Given the description of an element on the screen output the (x, y) to click on. 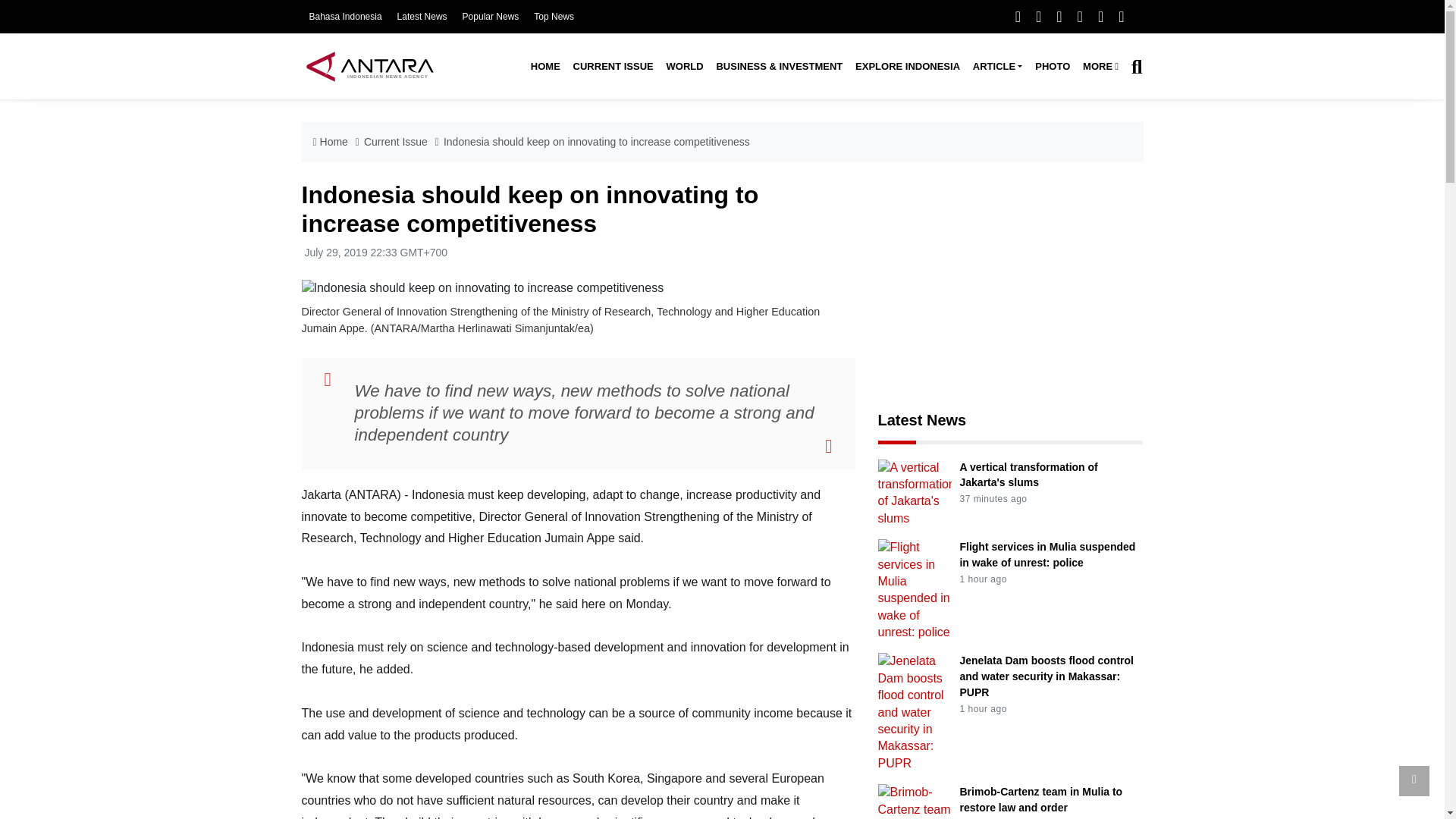
Top News (553, 16)
ANTARA News (369, 66)
Article (996, 66)
CURRENT ISSUE (612, 66)
EXPLORE INDONESIA (907, 66)
Latest News (421, 16)
Top News (553, 16)
Explore Indonesia (907, 66)
Latest News (421, 16)
ARTICLE (996, 66)
Popular News (491, 16)
Bahasa Indonesia (344, 16)
Current Issue (612, 66)
Bahasa Indonesia (344, 16)
